Given the description of an element on the screen output the (x, y) to click on. 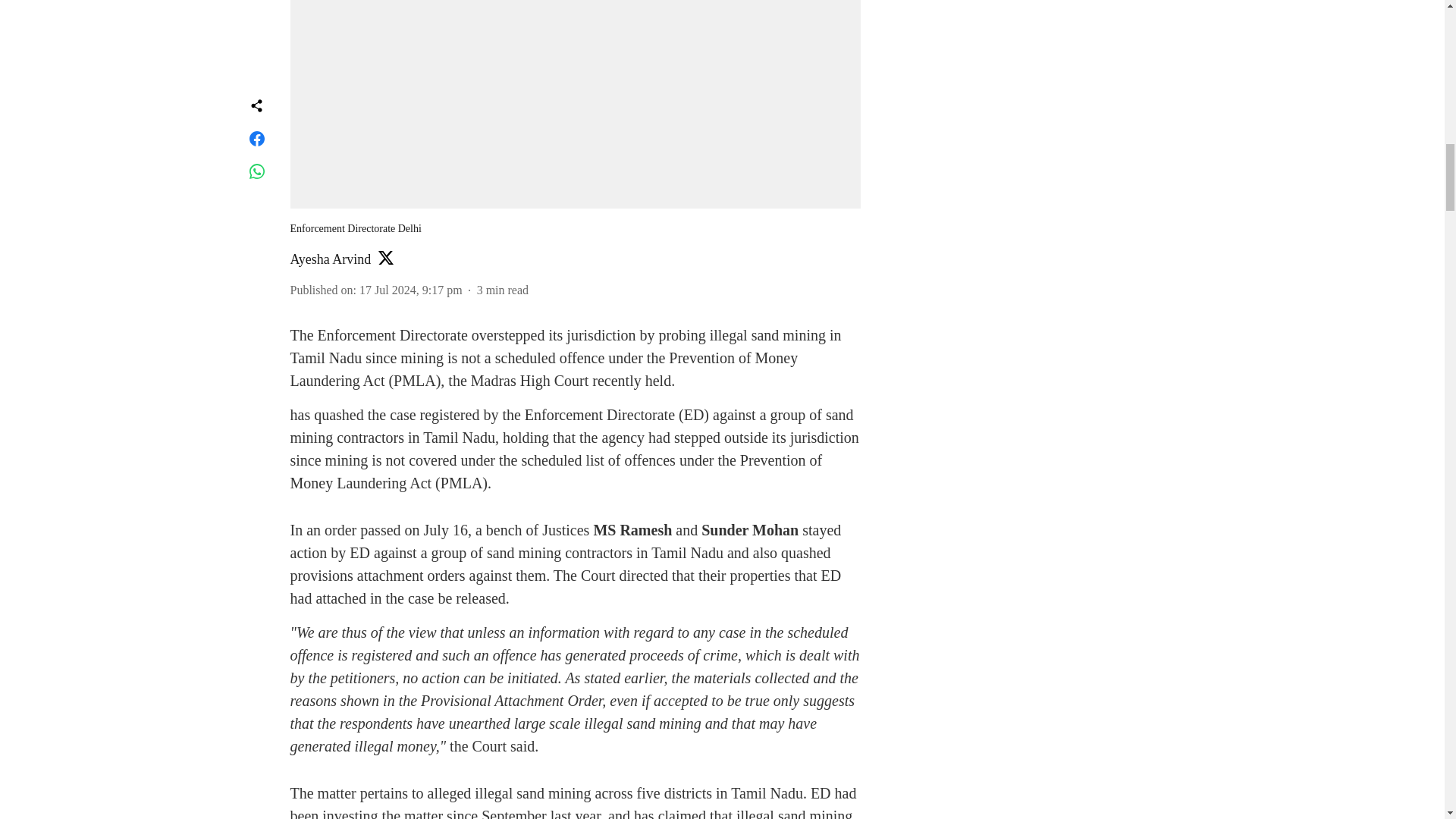
2024-07-17 13:17 (411, 289)
3rd party ad content (1015, 53)
Ayesha Arvind (330, 258)
